Given the description of an element on the screen output the (x, y) to click on. 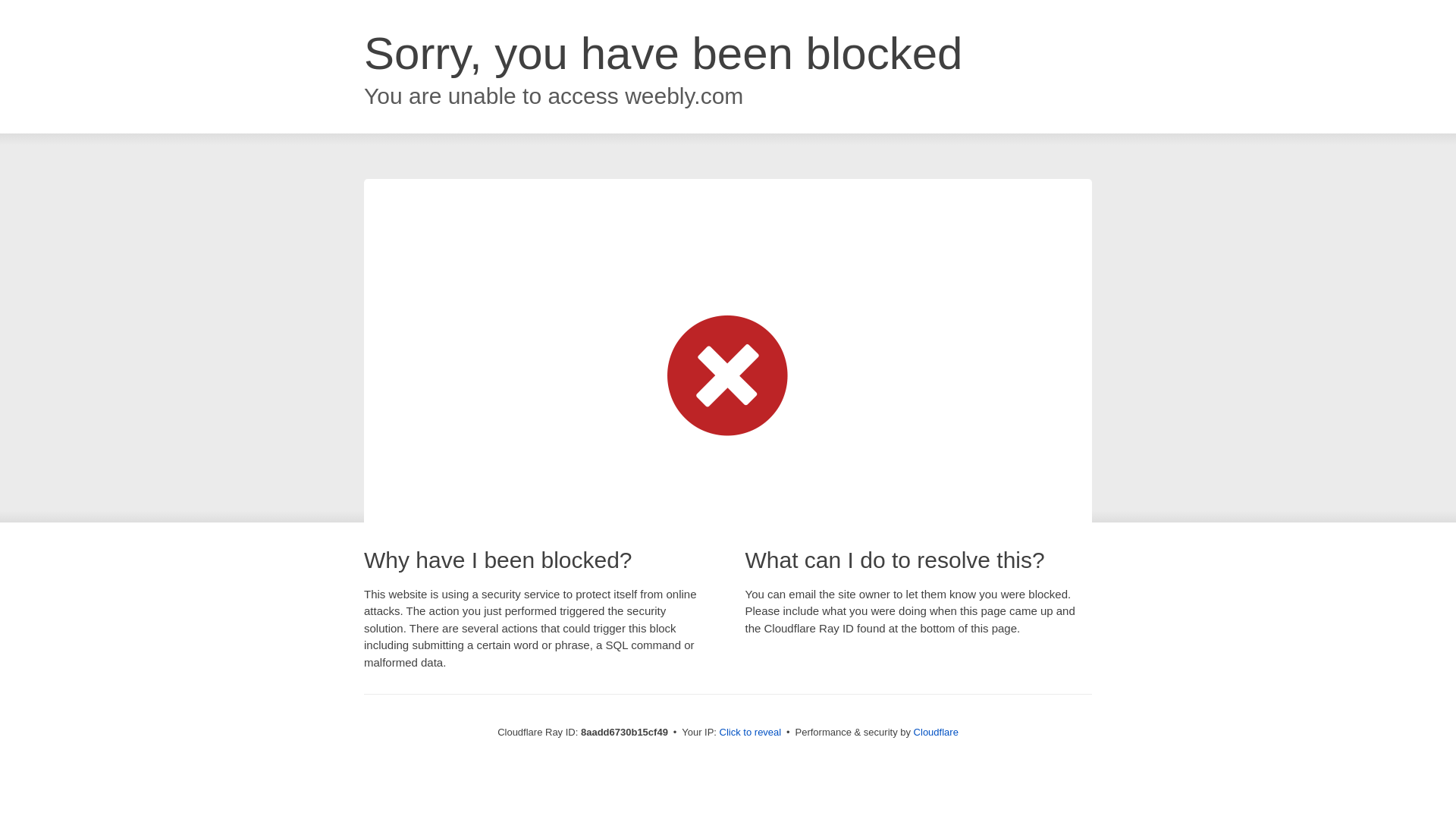
Click to reveal (750, 732)
Cloudflare (936, 731)
